Given the description of an element on the screen output the (x, y) to click on. 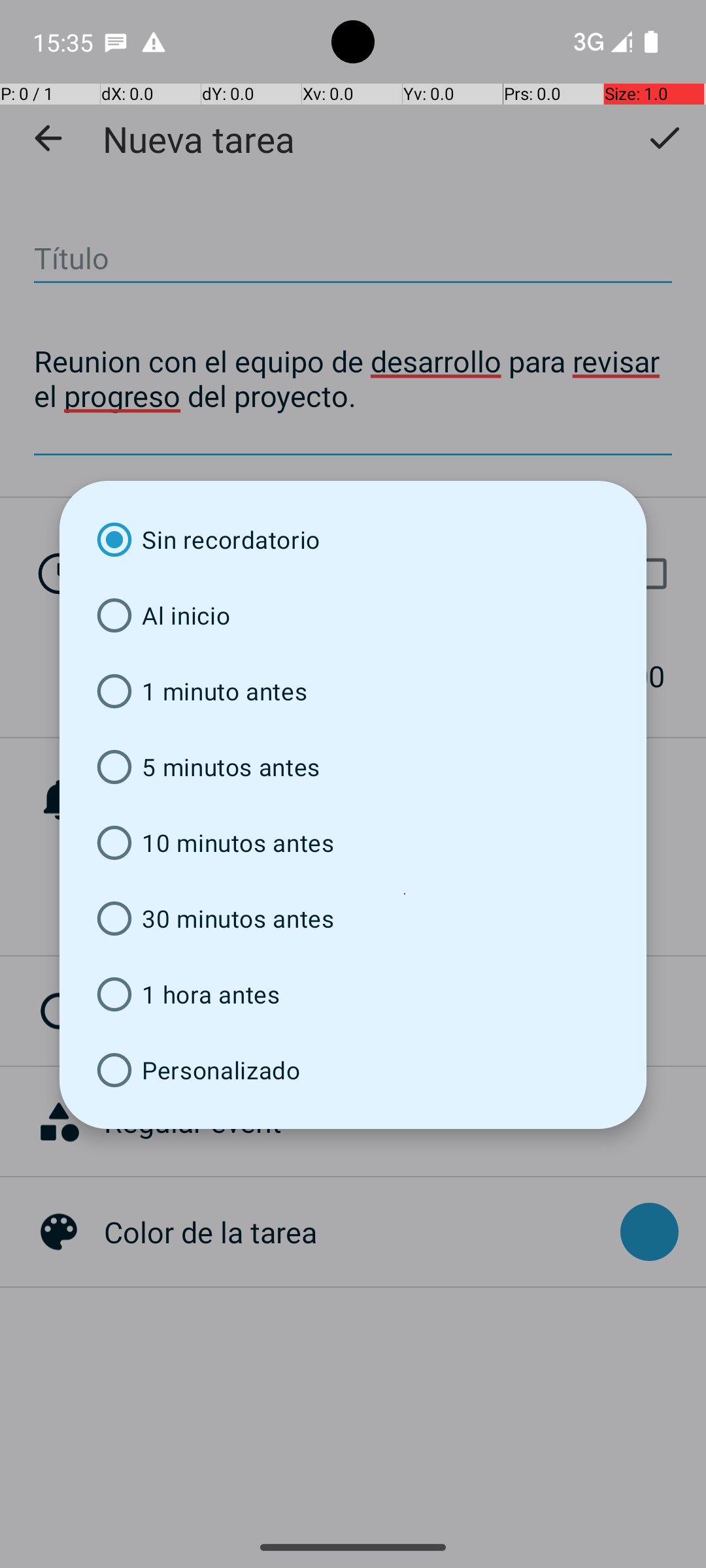
Sin recordatorio Element type: android.widget.RadioButton (352, 539)
Al inicio Element type: android.widget.RadioButton (352, 615)
1 minuto antes Element type: android.widget.RadioButton (352, 691)
5 minutos antes Element type: android.widget.RadioButton (352, 766)
10 minutos antes Element type: android.widget.RadioButton (352, 842)
30 minutos antes Element type: android.widget.RadioButton (352, 918)
1 hora antes Element type: android.widget.RadioButton (352, 994)
Personalizado Element type: android.widget.RadioButton (352, 1070)
